Given the description of an element on the screen output the (x, y) to click on. 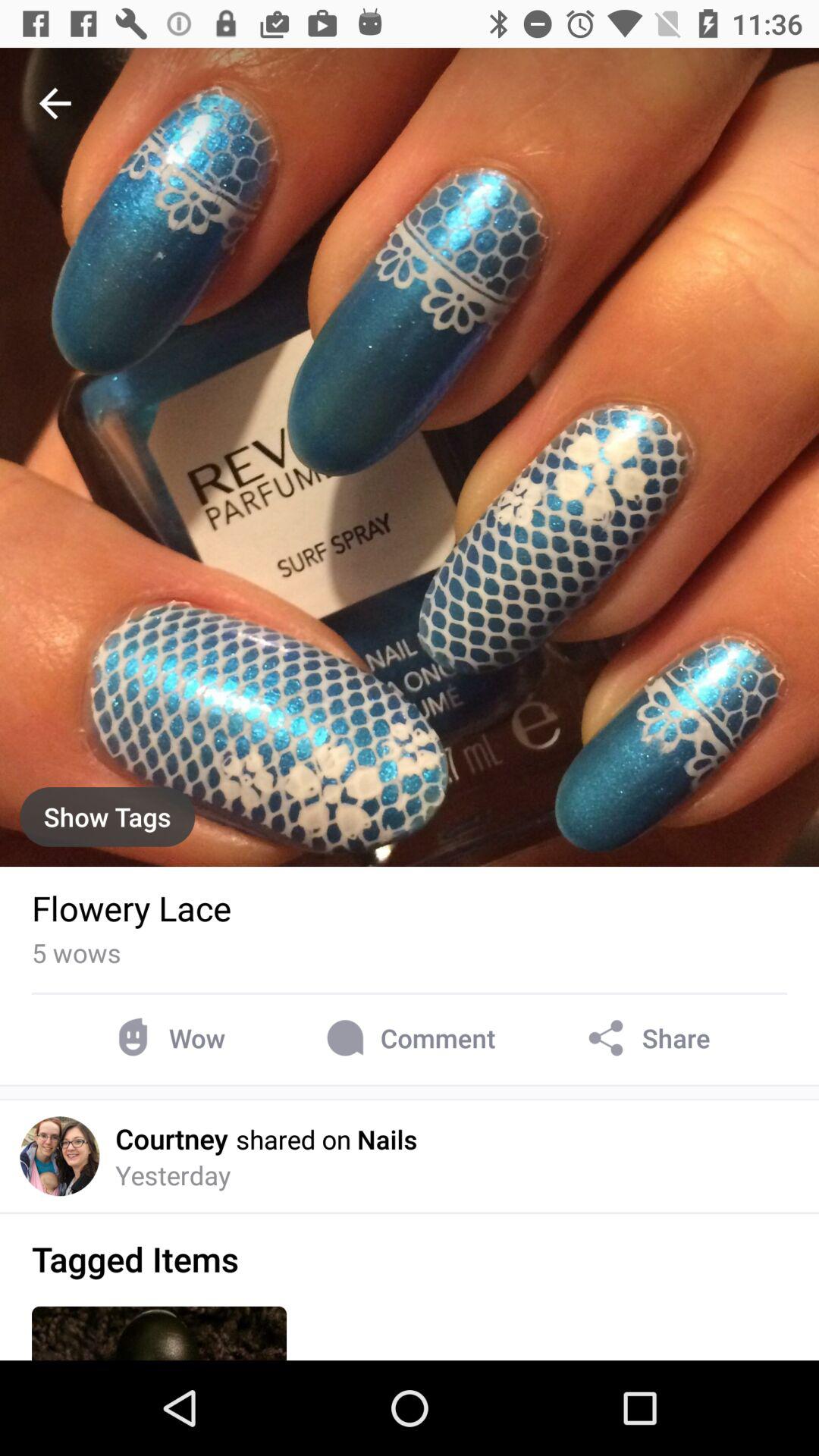
scroll until show tags (107, 816)
